Given the description of an element on the screen output the (x, y) to click on. 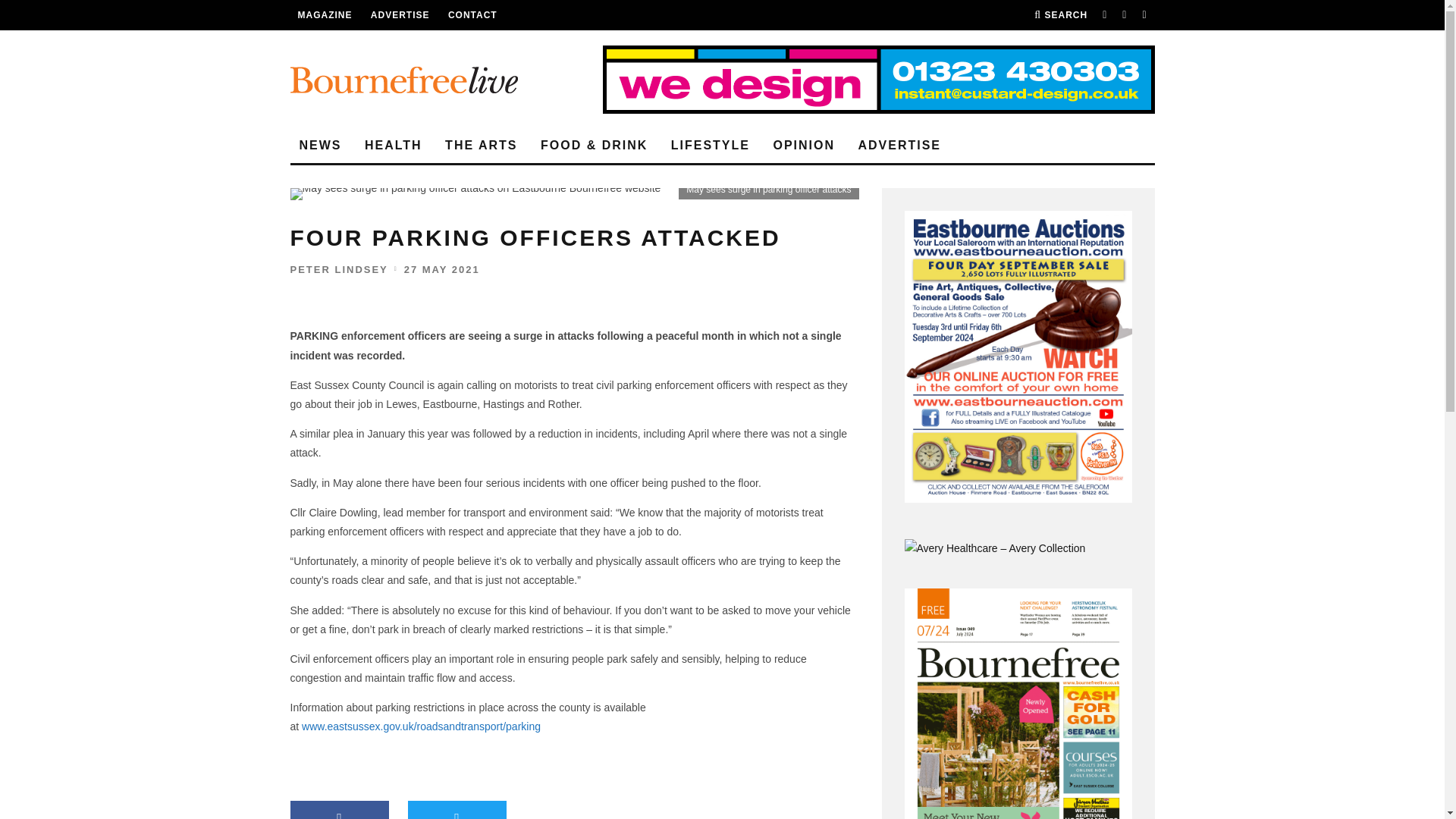
Log In (721, 409)
Search (1060, 15)
ADVERTISE (899, 145)
HEALTH (392, 145)
CONTACT (472, 15)
PETER LINDSEY (338, 269)
SEARCH (1060, 15)
MAGAZINE (324, 15)
OPINION (803, 145)
THE ARTS (480, 145)
ADVERTISE (400, 15)
LIFESTYLE (710, 145)
NEWS (319, 145)
